Given the description of an element on the screen output the (x, y) to click on. 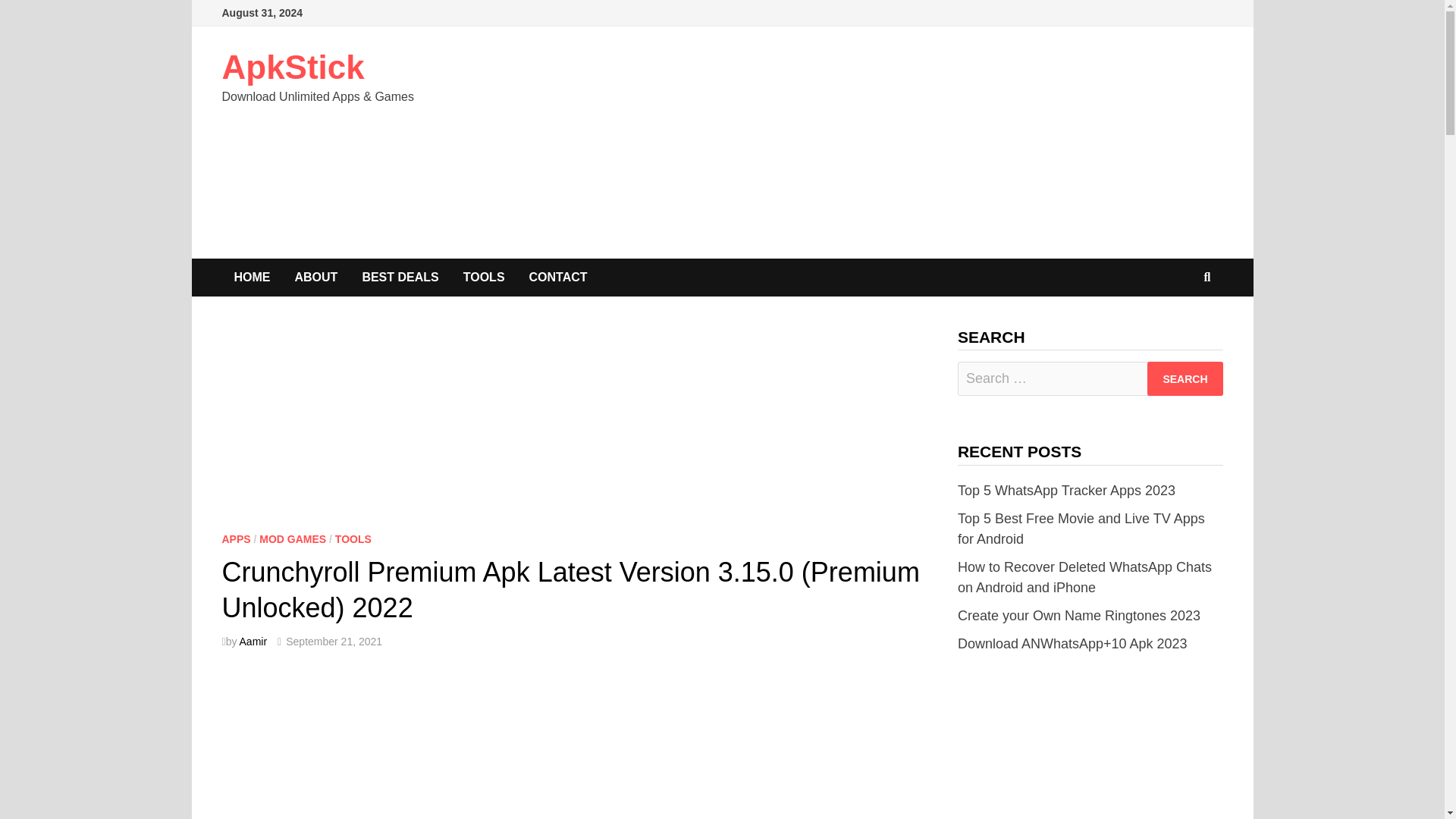
September 21, 2021 (333, 641)
Top 5 WhatsApp Tracker Apps 2023 (1066, 490)
CONTACT (557, 277)
HOME (251, 277)
BEST DEALS (399, 277)
TOOLS (483, 277)
ABOUT (315, 277)
APPS (235, 539)
How to Recover Deleted WhatsApp Chats on Android and iPhone (1084, 577)
Search (1185, 378)
